Given the description of an element on the screen output the (x, y) to click on. 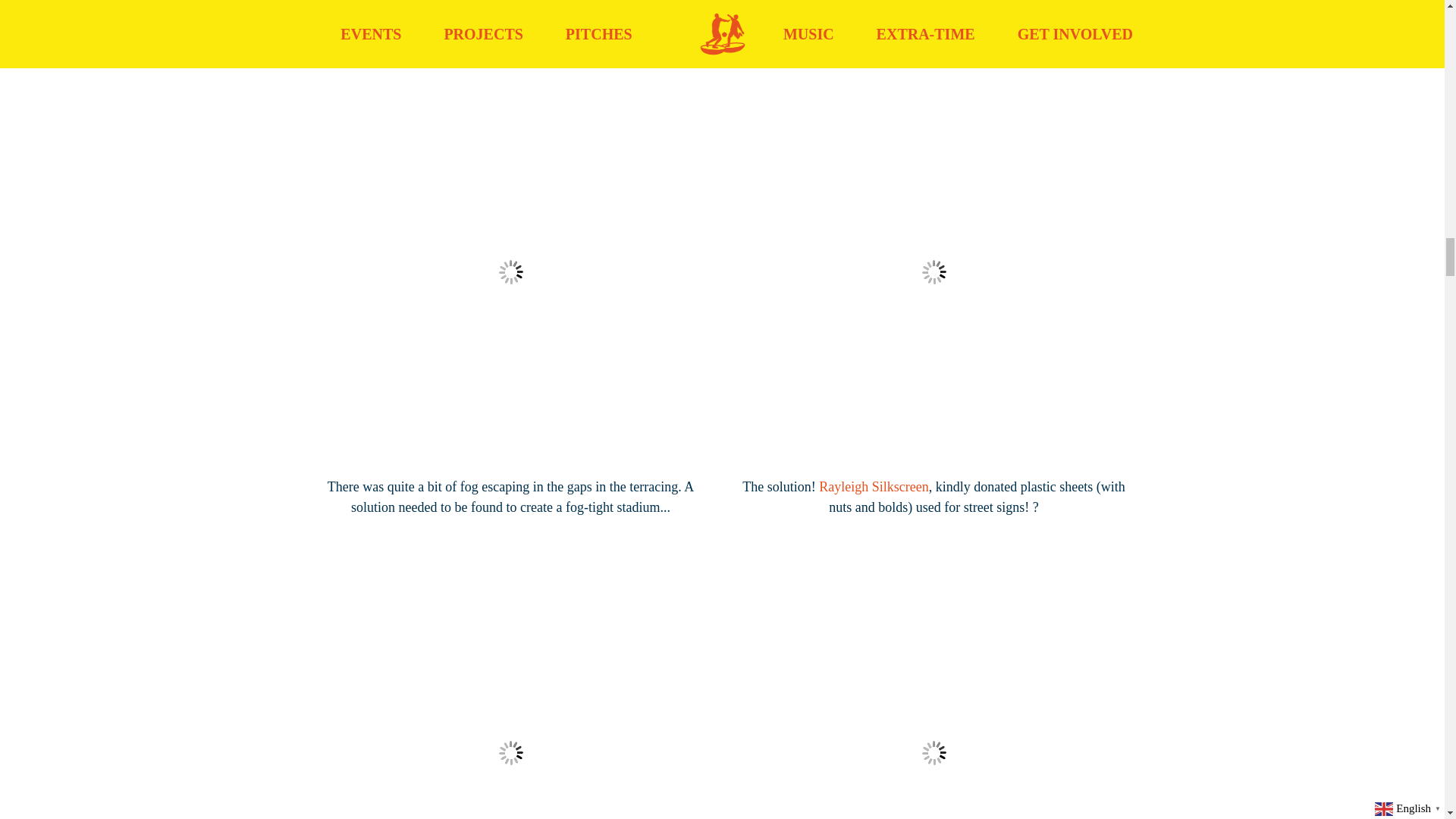
Rayleigh Silkscreen (873, 486)
